Given the description of an element on the screen output the (x, y) to click on. 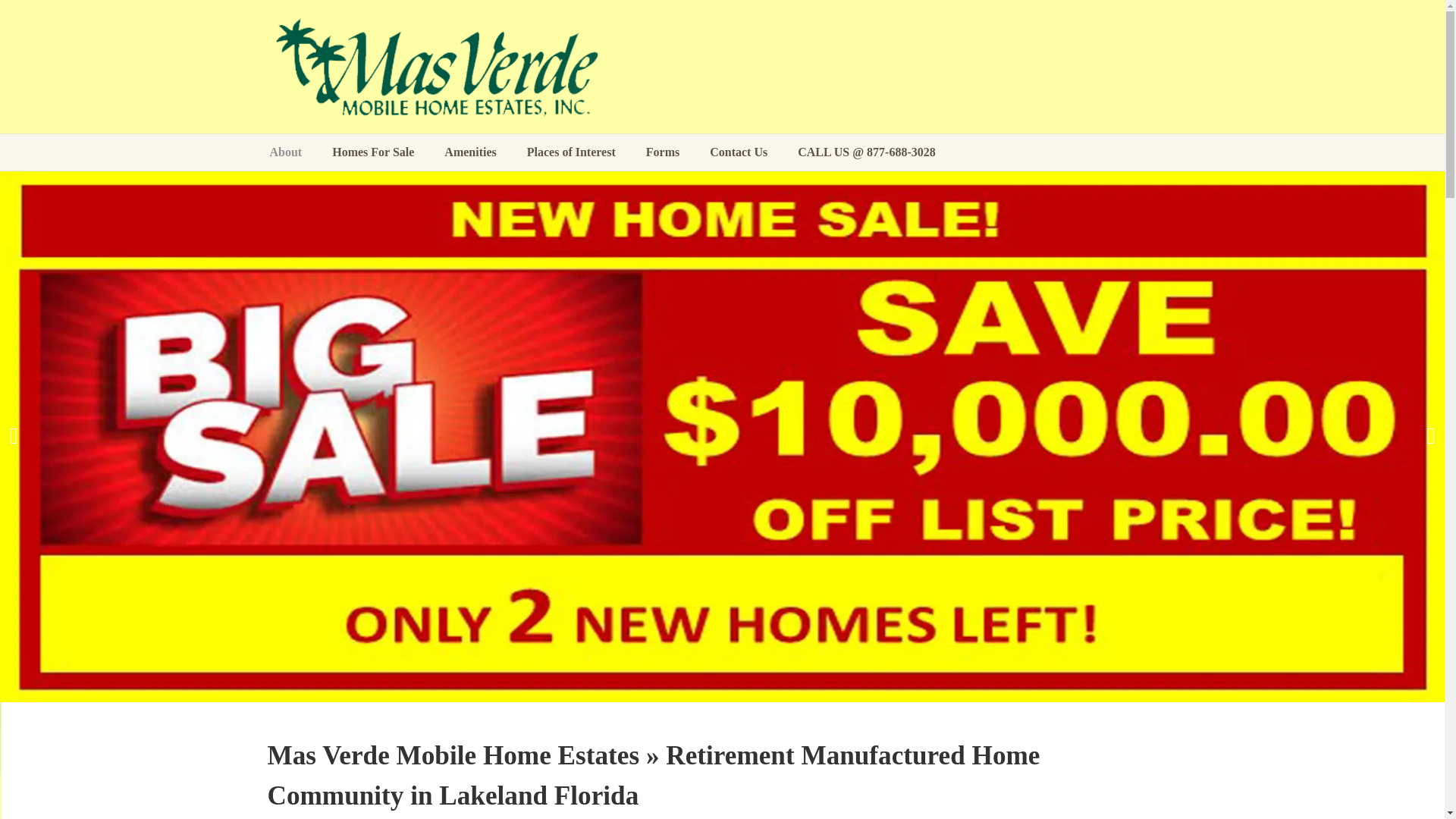
Forms (662, 152)
About (293, 152)
Contact Us (738, 152)
Amenities (470, 152)
Homes For Sale (373, 152)
Places of Interest (571, 152)
Mas Verde Mobile Home Estates (440, 68)
